Given the description of an element on the screen output the (x, y) to click on. 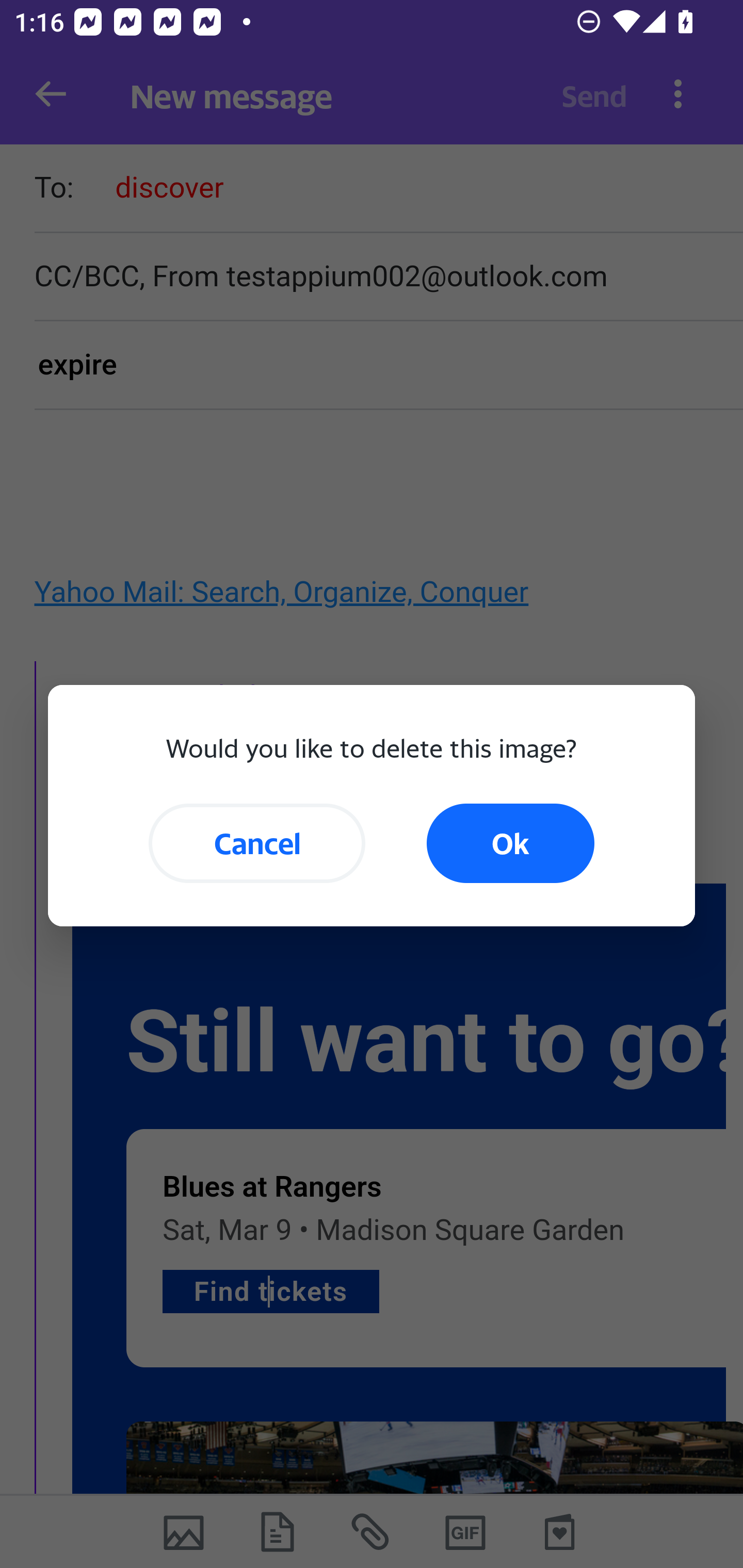
Cancel (256, 842)
Ok (510, 842)
